Given the description of an element on the screen output the (x, y) to click on. 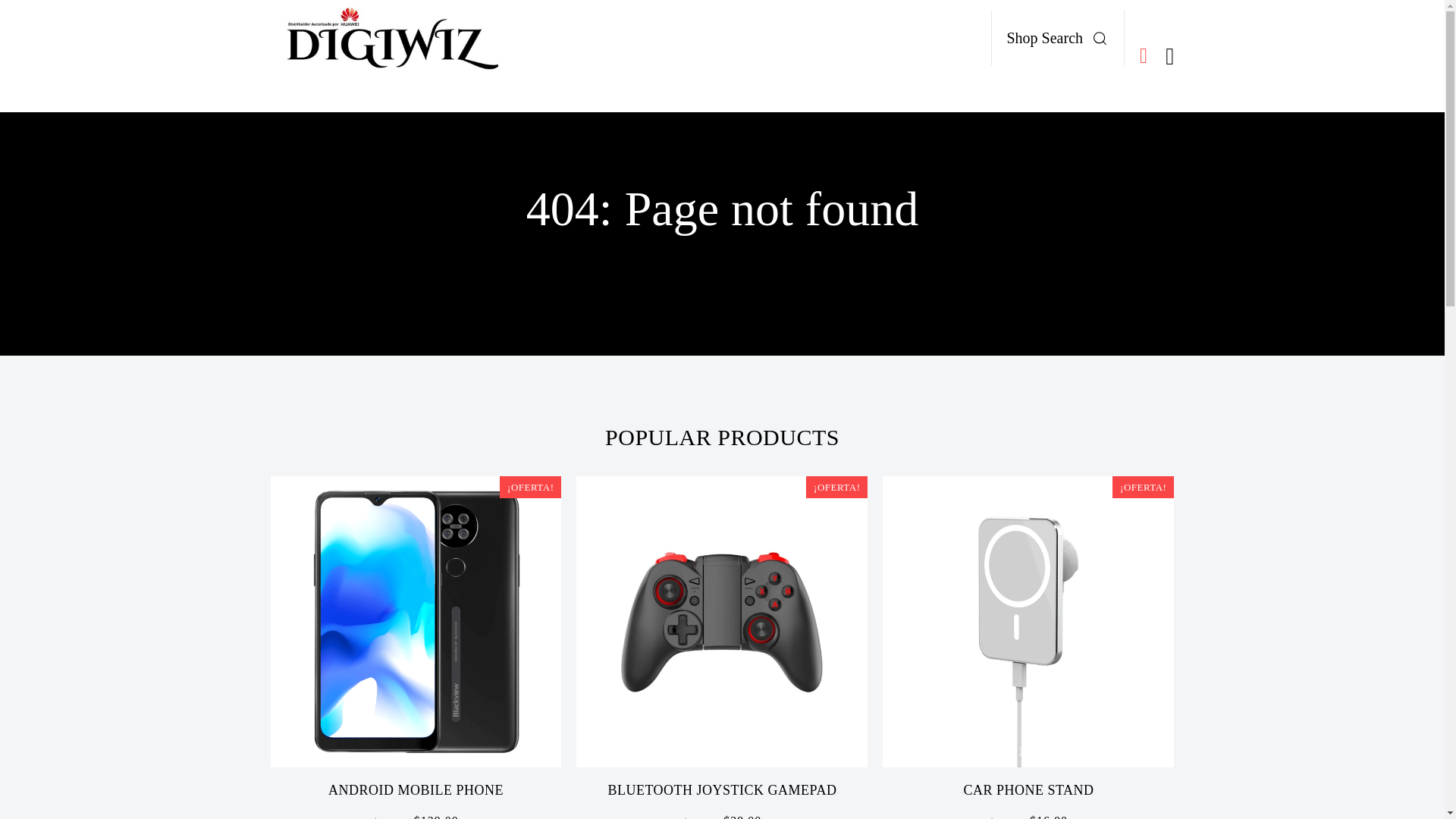
BLUETOOTH JOYSTICK GAMEPAD (721, 789)
Bluetooth Joystick Gamepad (721, 621)
Shop Search (1061, 37)
ANDROID MOBILE PHONE (416, 789)
Car Phone Stand (1027, 621)
Android Mobile Phone (414, 621)
CAR PHONE STAND (1027, 789)
